Given the description of an element on the screen output the (x, y) to click on. 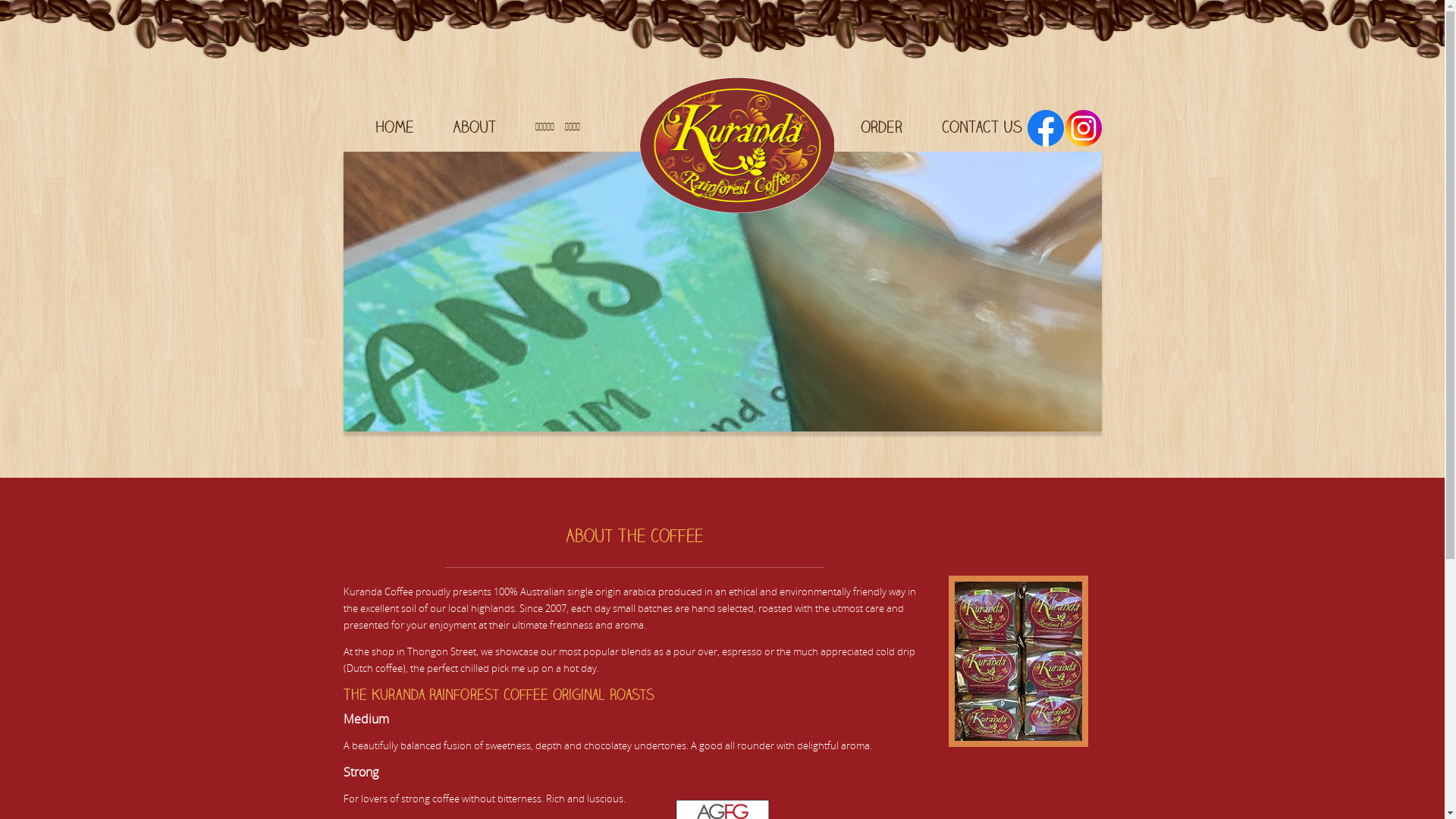
Home Element type: text (393, 126)
Contact Us Element type: text (981, 126)
About Element type: text (474, 126)
Order Element type: text (880, 126)
